Given the description of an element on the screen output the (x, y) to click on. 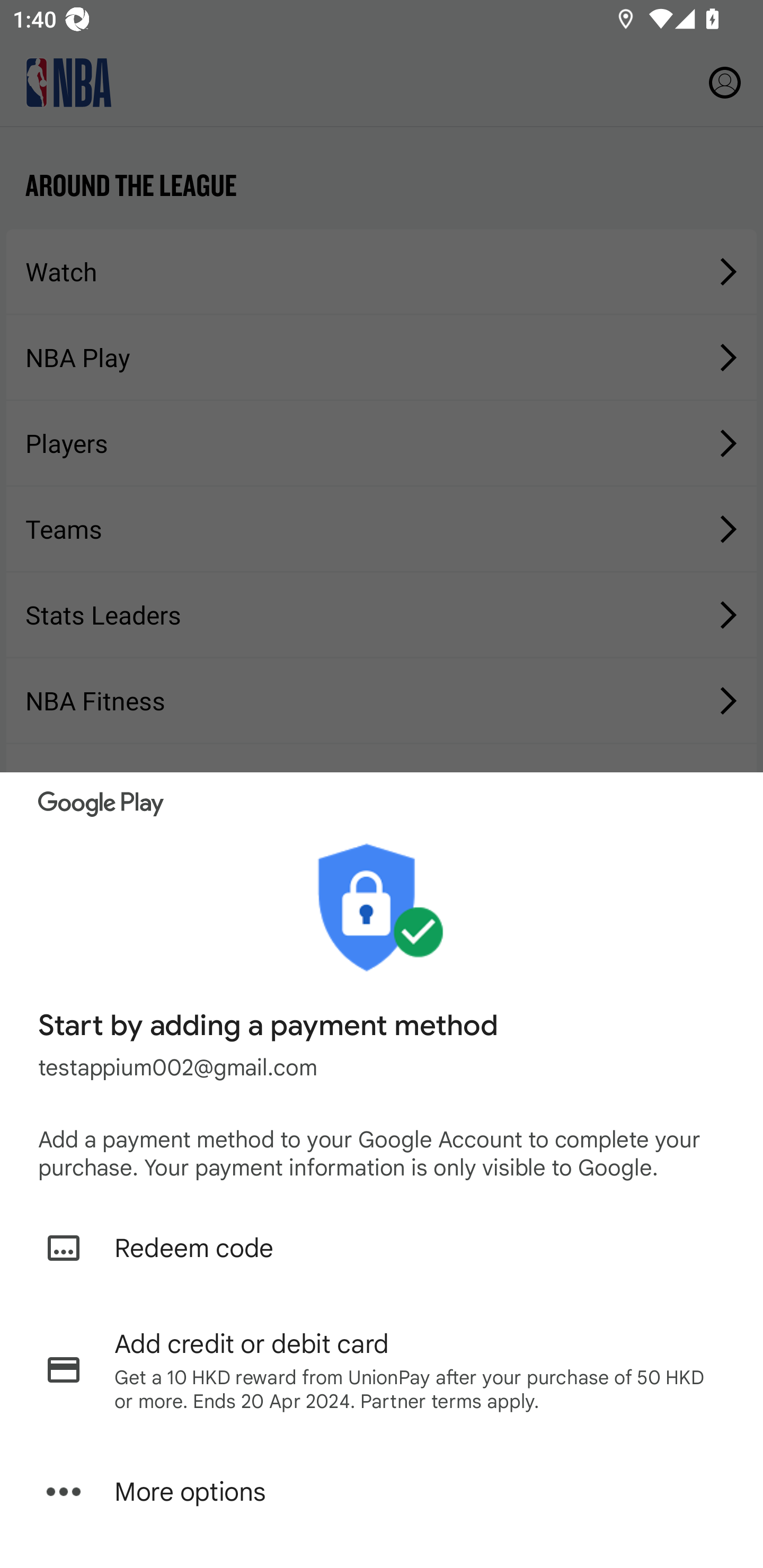
Redeem code (381, 1247)
More options (381, 1491)
